Given the description of an element on the screen output the (x, y) to click on. 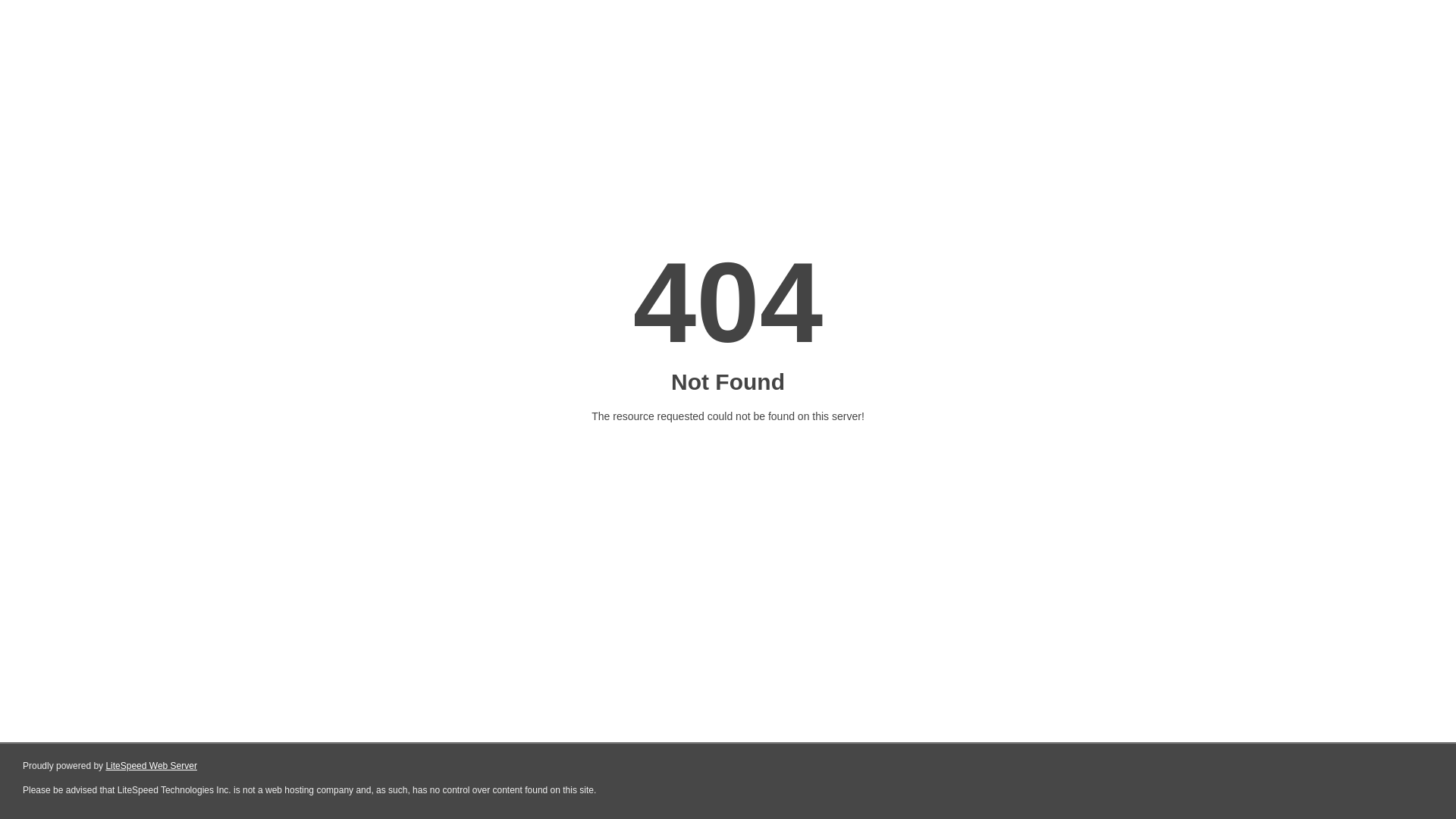
LiteSpeed Web Server Element type: text (151, 765)
